Given the description of an element on the screen output the (x, y) to click on. 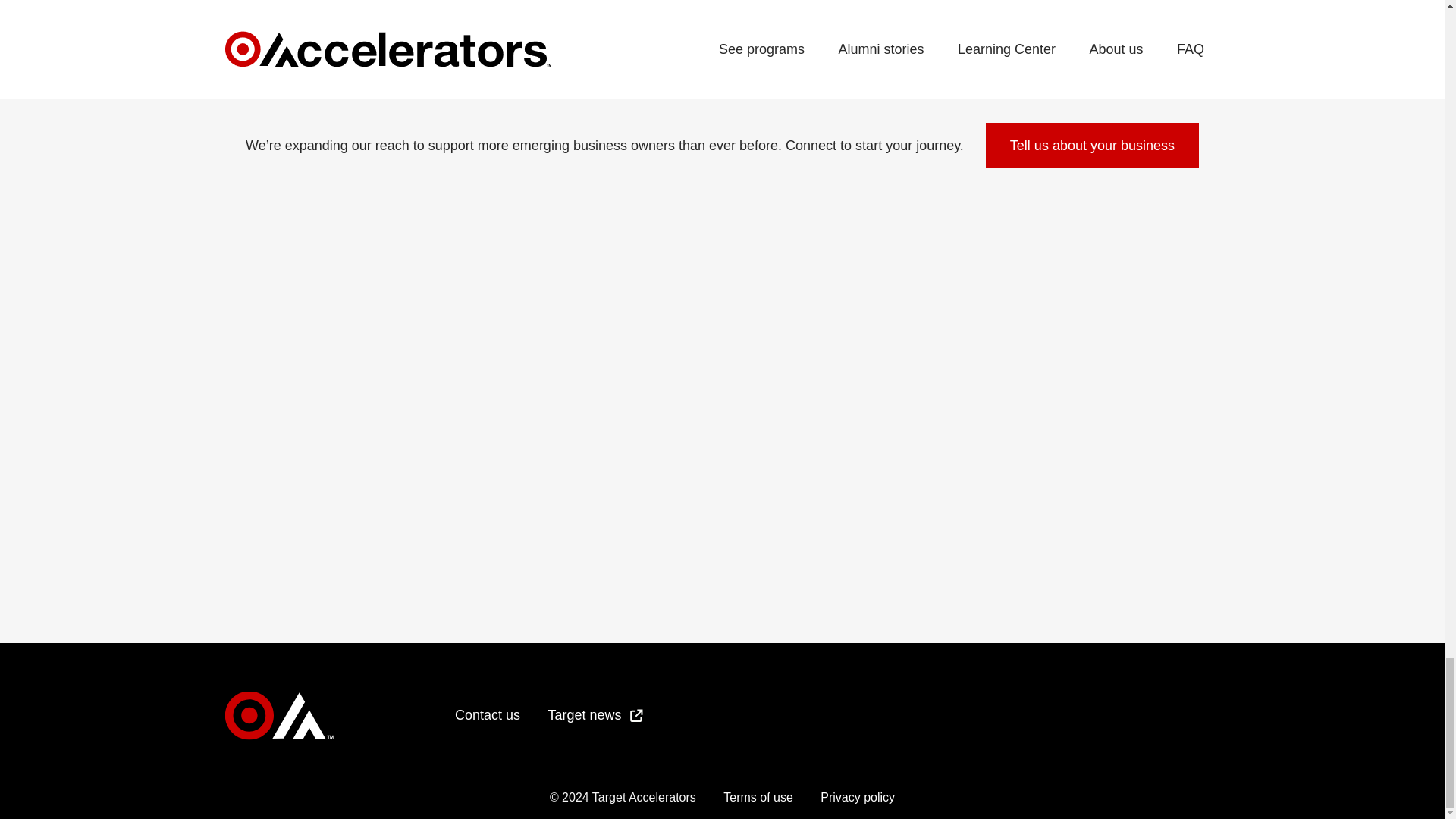
Terms of use (758, 797)
Privacy policy (858, 797)
Contact us (486, 714)
Target news (594, 714)
